Given the description of an element on the screen output the (x, y) to click on. 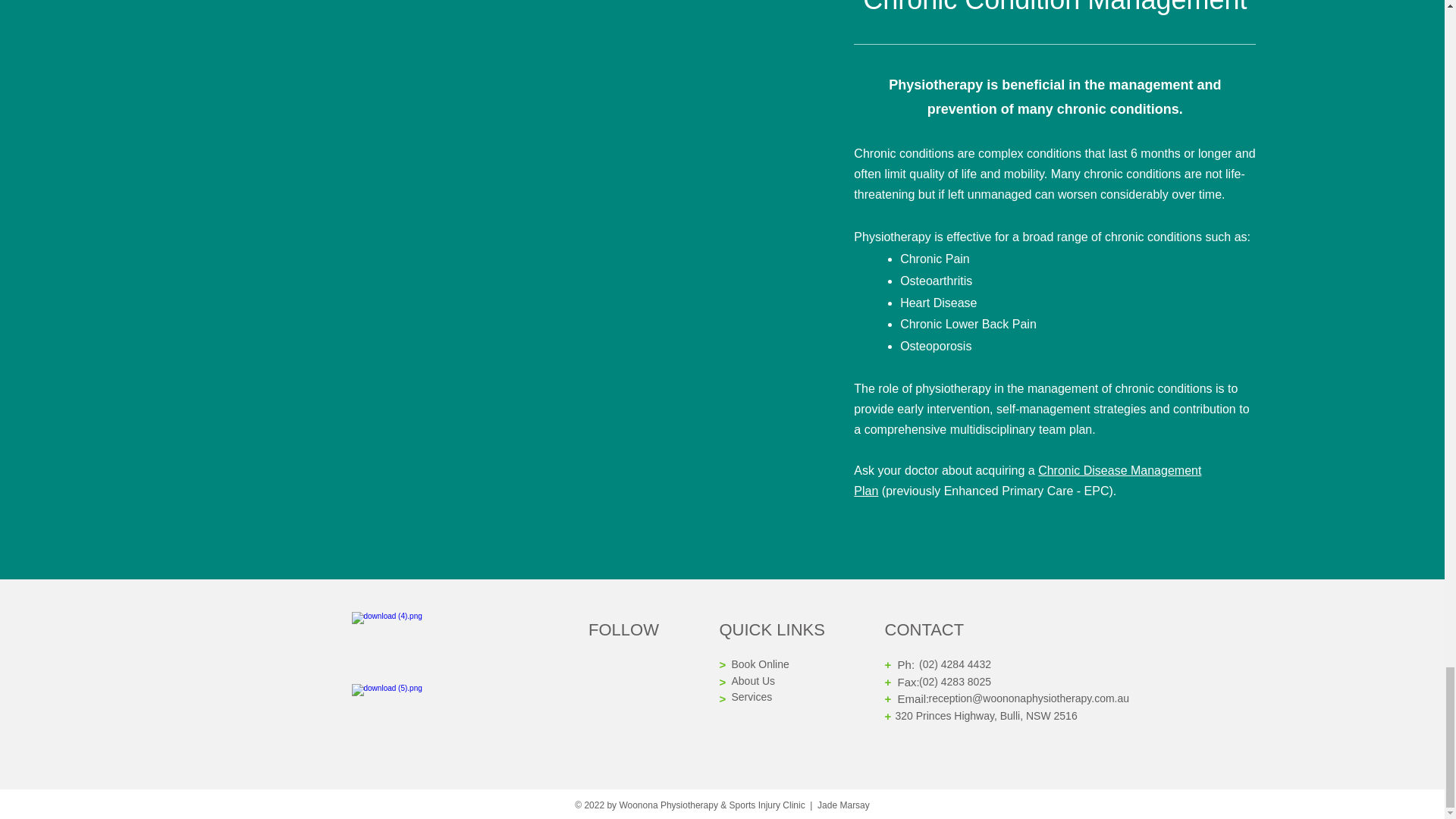
Chronic Disease Management Plan (1027, 480)
